Given the description of an element on the screen output the (x, y) to click on. 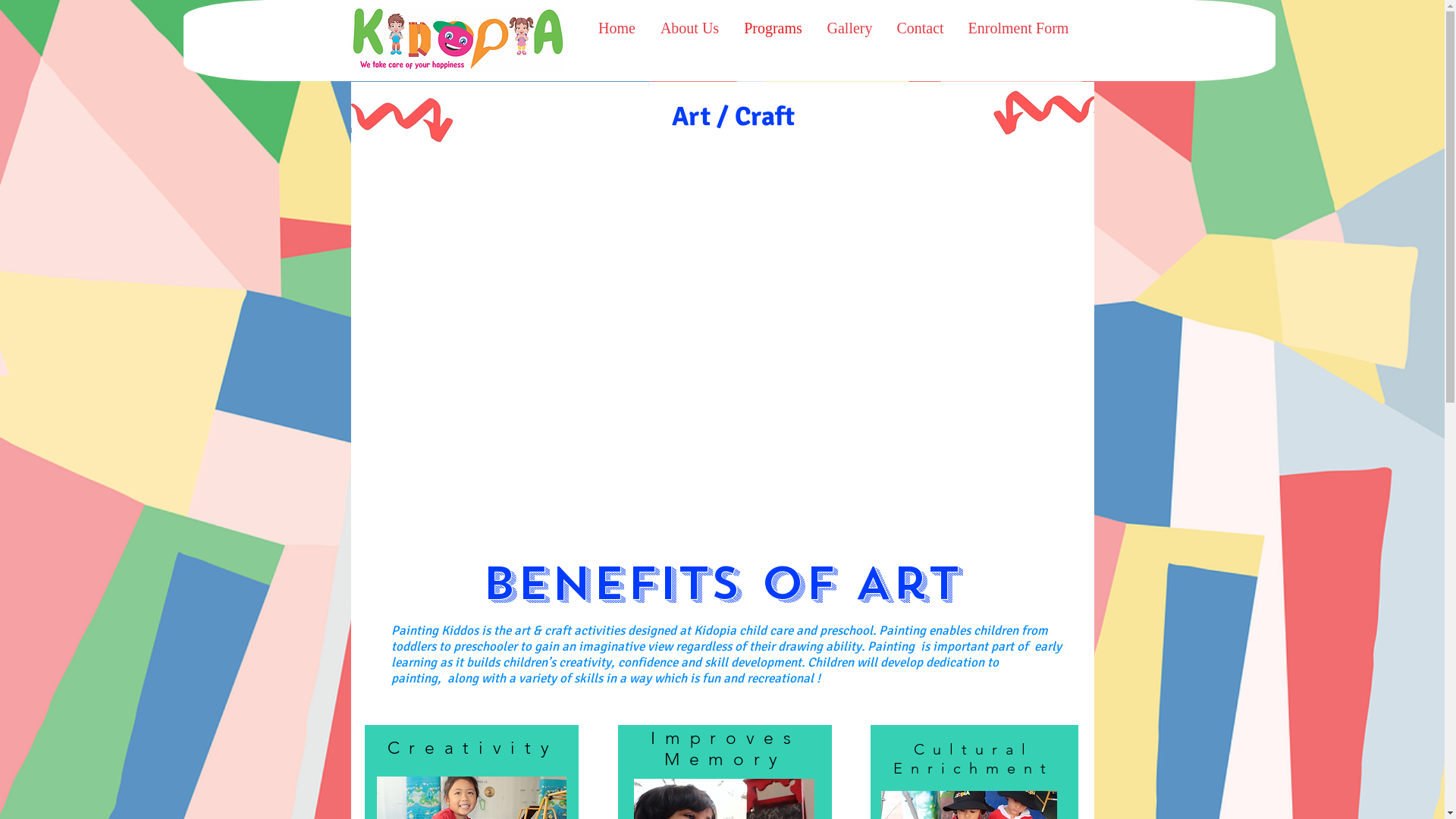
Gallery Element type: text (849, 28)
Enrolment Form Element type: text (1017, 28)
Contact Element type: text (919, 28)
Programs Element type: text (772, 28)
Home Element type: text (616, 28)
About Us Element type: text (689, 28)
